Given the description of an element on the screen output the (x, y) to click on. 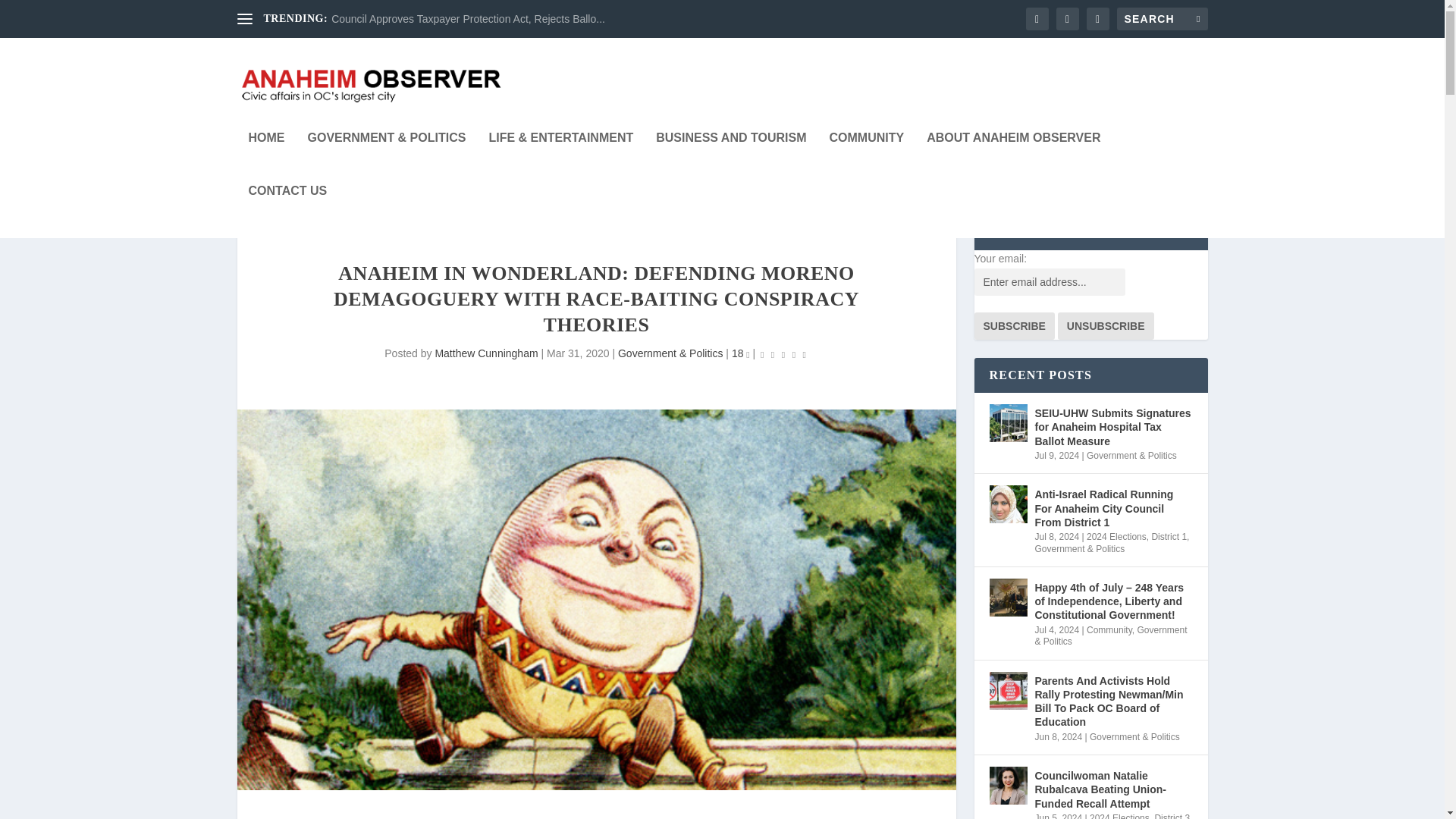
Subscribe (1014, 325)
Posts by Matthew Cunningham (485, 353)
18 (740, 353)
Matthew Cunningham (485, 353)
Unsubscribe (1106, 325)
BUSINESS AND TOURISM (731, 158)
Rating: 0.00 (783, 353)
COMMUNITY (866, 158)
Council Approves Taxpayer Protection Act, Rejects Ballo... (468, 19)
CONTACT US (287, 211)
